Given the description of an element on the screen output the (x, y) to click on. 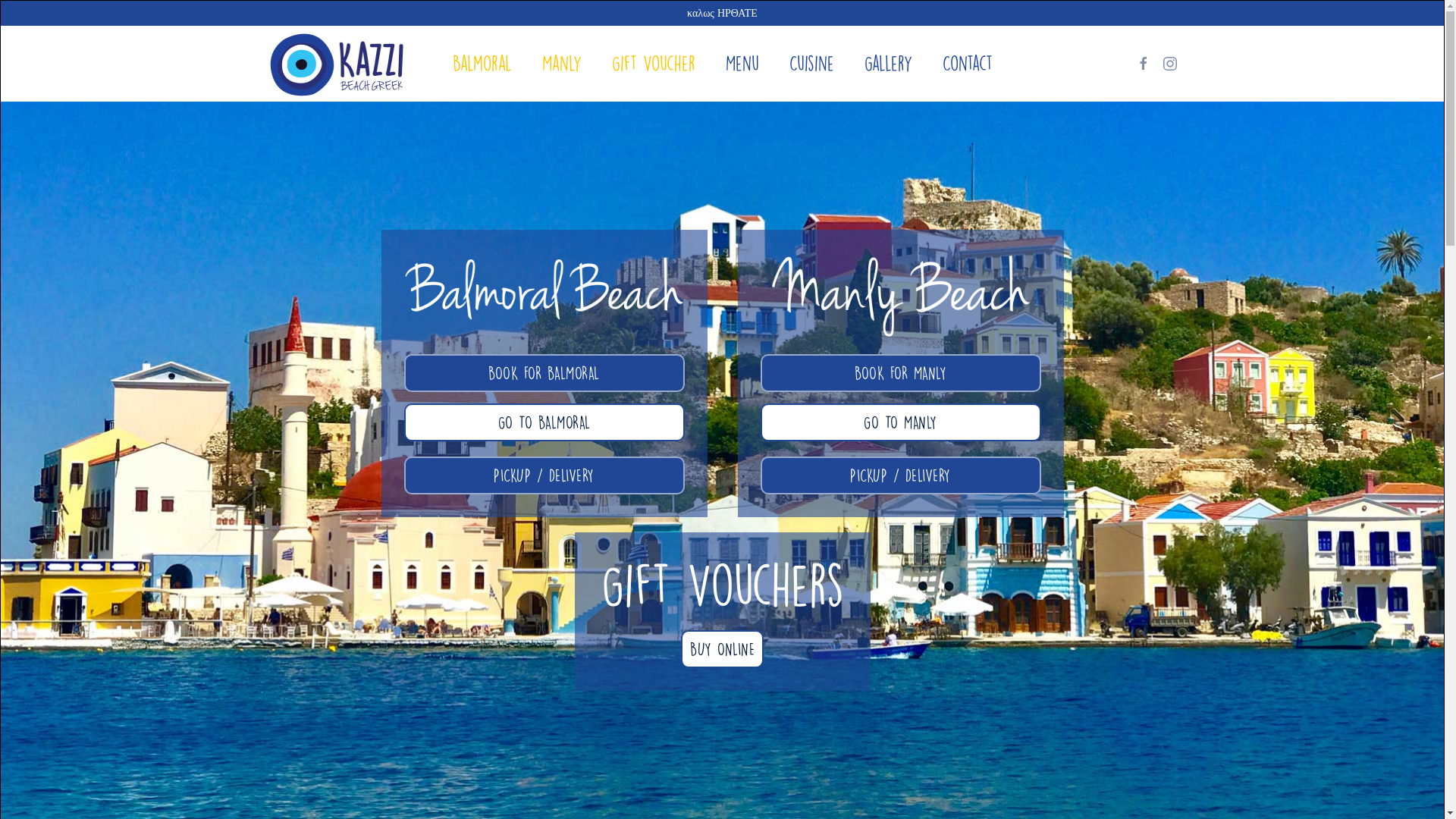
BUY ONLINE Element type: text (721, 649)
Contact Element type: text (966, 63)
PICKUP / DELIVERY Element type: text (899, 475)
GO TO MANLY Element type: text (899, 422)
Gift Voucher Element type: text (652, 63)
PICKUP / DELIVERY Element type: text (543, 475)
Balmoral Element type: text (481, 63)
Manly Element type: text (561, 63)
Gallery Element type: text (888, 63)
BOOK FOR MANLY Element type: text (899, 373)
Cuisine Element type: text (810, 63)
BOOK FOR BALMORAL Element type: text (543, 373)
GO TO BALMORAL Element type: text (543, 422)
Menu Element type: text (741, 63)
